Given the description of an element on the screen output the (x, y) to click on. 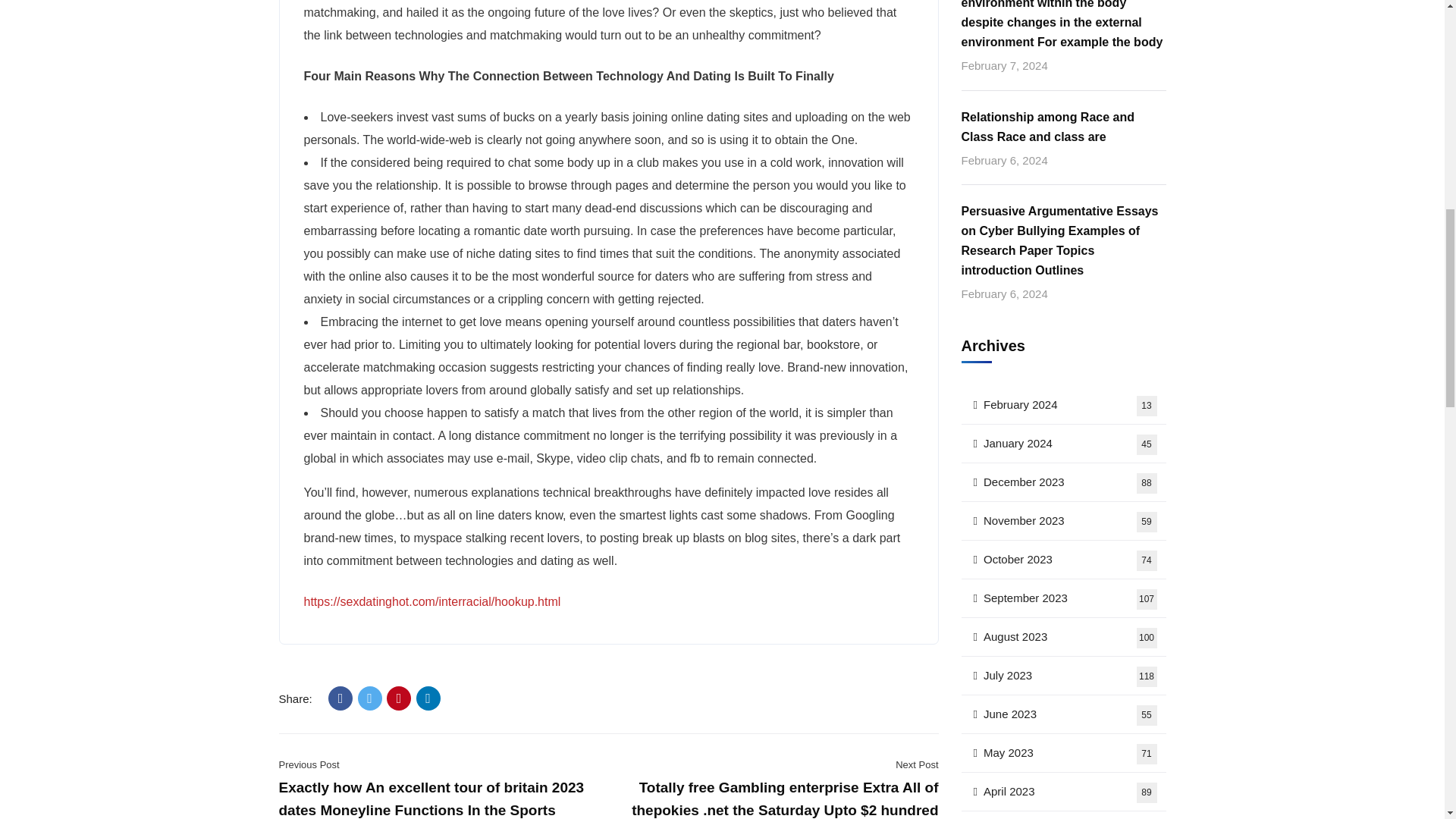
LinkedIn (428, 698)
Relationship among Race and Class Race and class are (1063, 127)
Facebook (340, 698)
Relationship among Race and Class Race and class are (1063, 127)
Pinterest (398, 698)
